Given the description of an element on the screen output the (x, y) to click on. 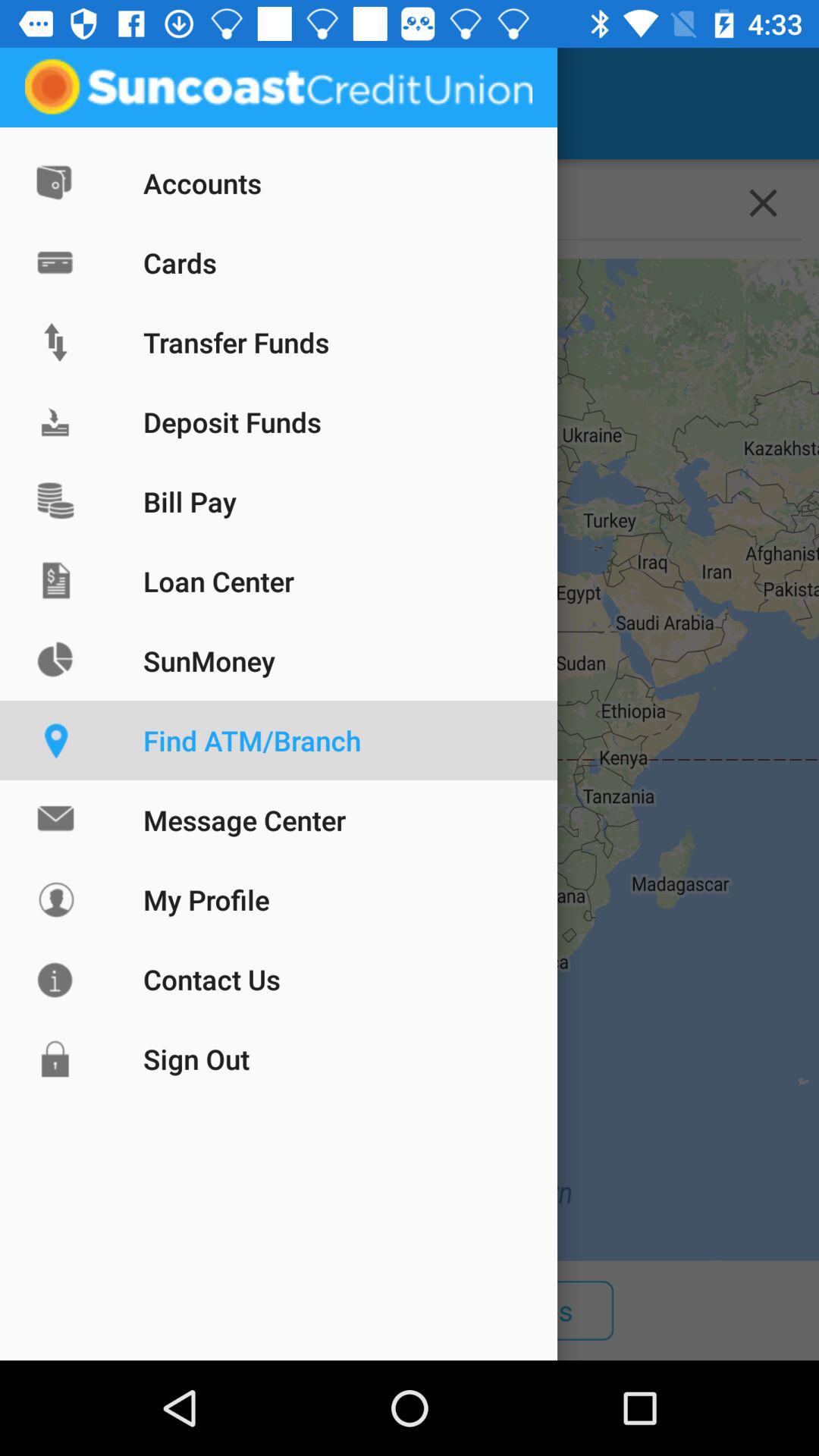
press the item to the left of the atms item (118, 1310)
